Given the description of an element on the screen output the (x, y) to click on. 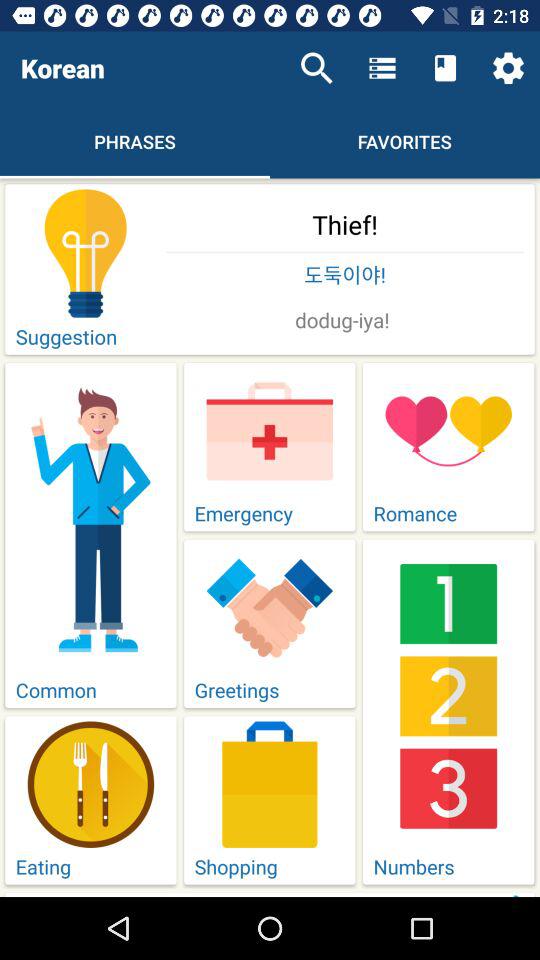
choose item next to the korean icon (316, 67)
